Given the description of an element on the screen output the (x, y) to click on. 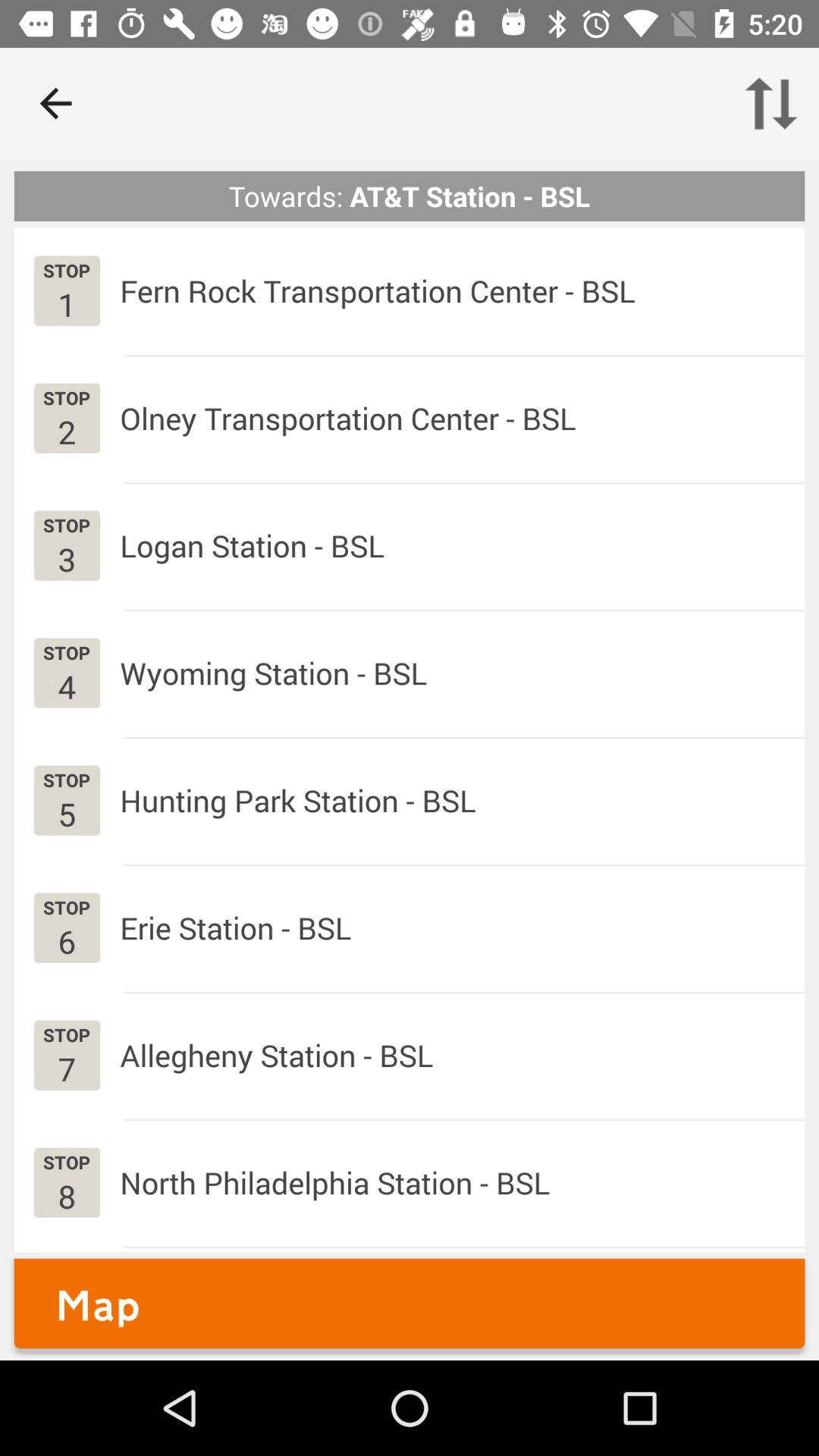
tap the app above the stop app (66, 431)
